Given the description of an element on the screen output the (x, y) to click on. 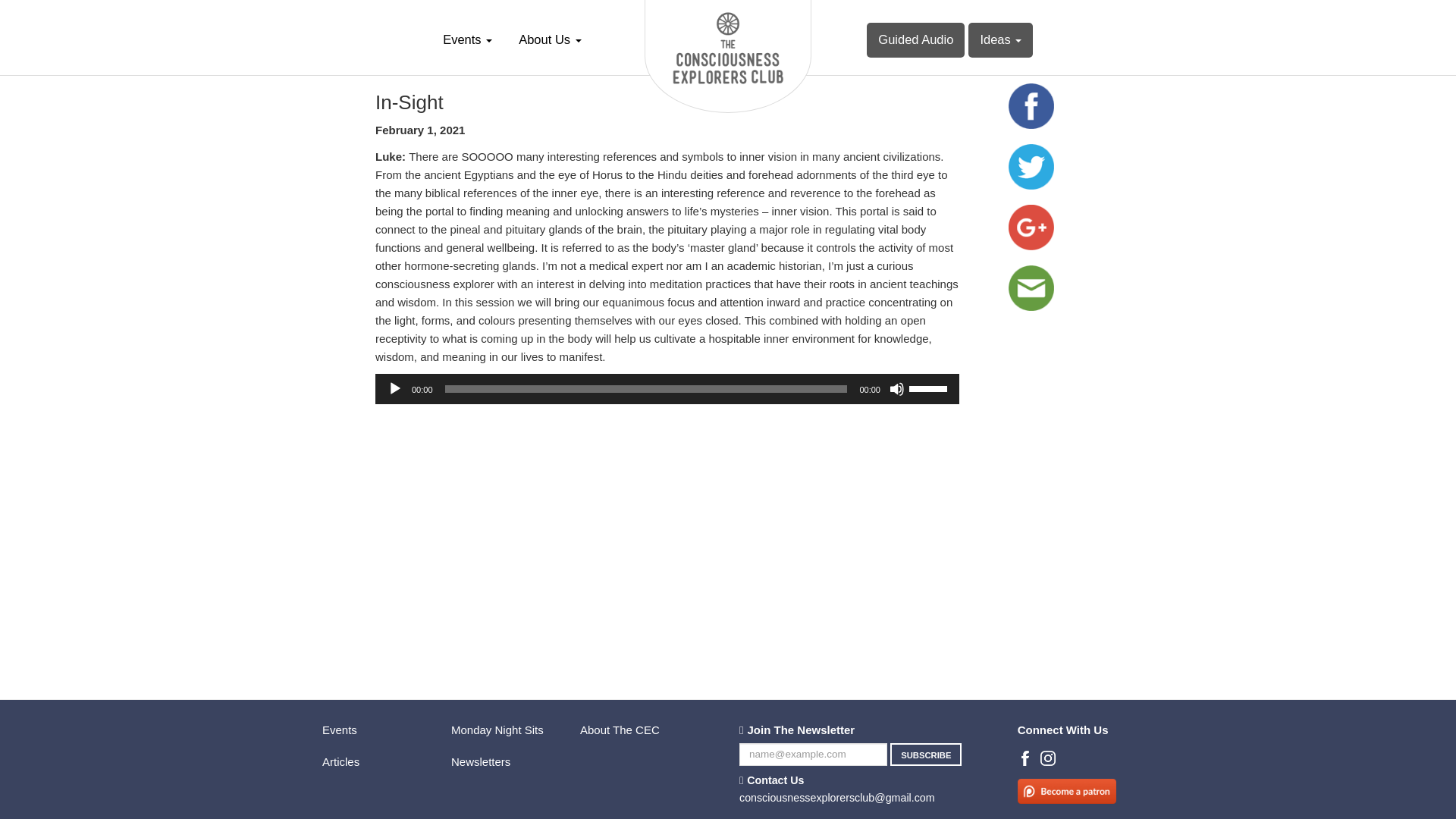
google (1031, 227)
twitter (1031, 166)
Mute (896, 388)
Subscribe (924, 753)
Ideas (1000, 39)
email (1031, 287)
Events (466, 39)
facebook (1031, 106)
Play (395, 388)
Guided Audio (914, 39)
About Us (549, 39)
